Given the description of an element on the screen output the (x, y) to click on. 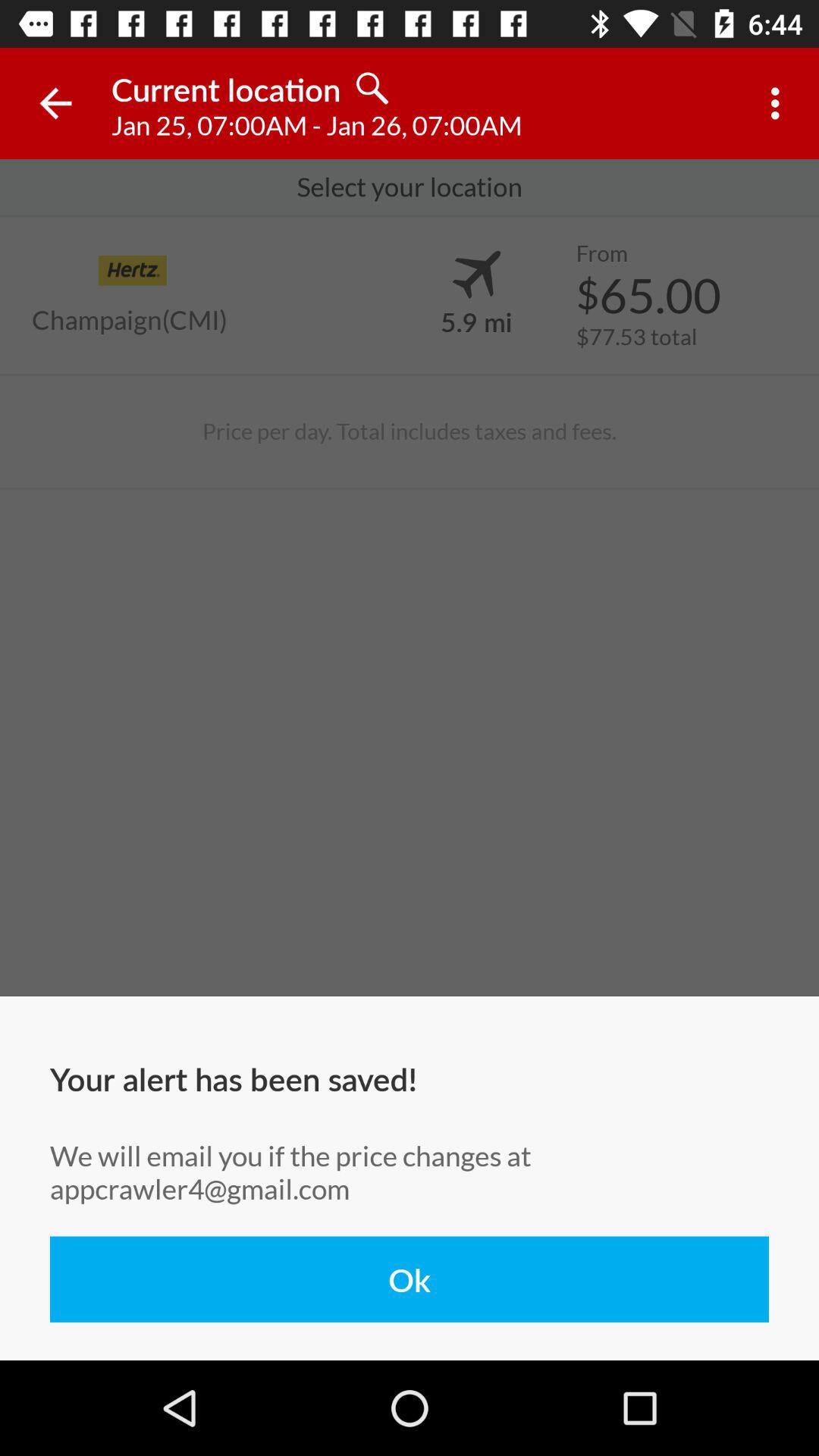
turn on the icon to the left of the $65.00 (475, 321)
